Given the description of an element on the screen output the (x, y) to click on. 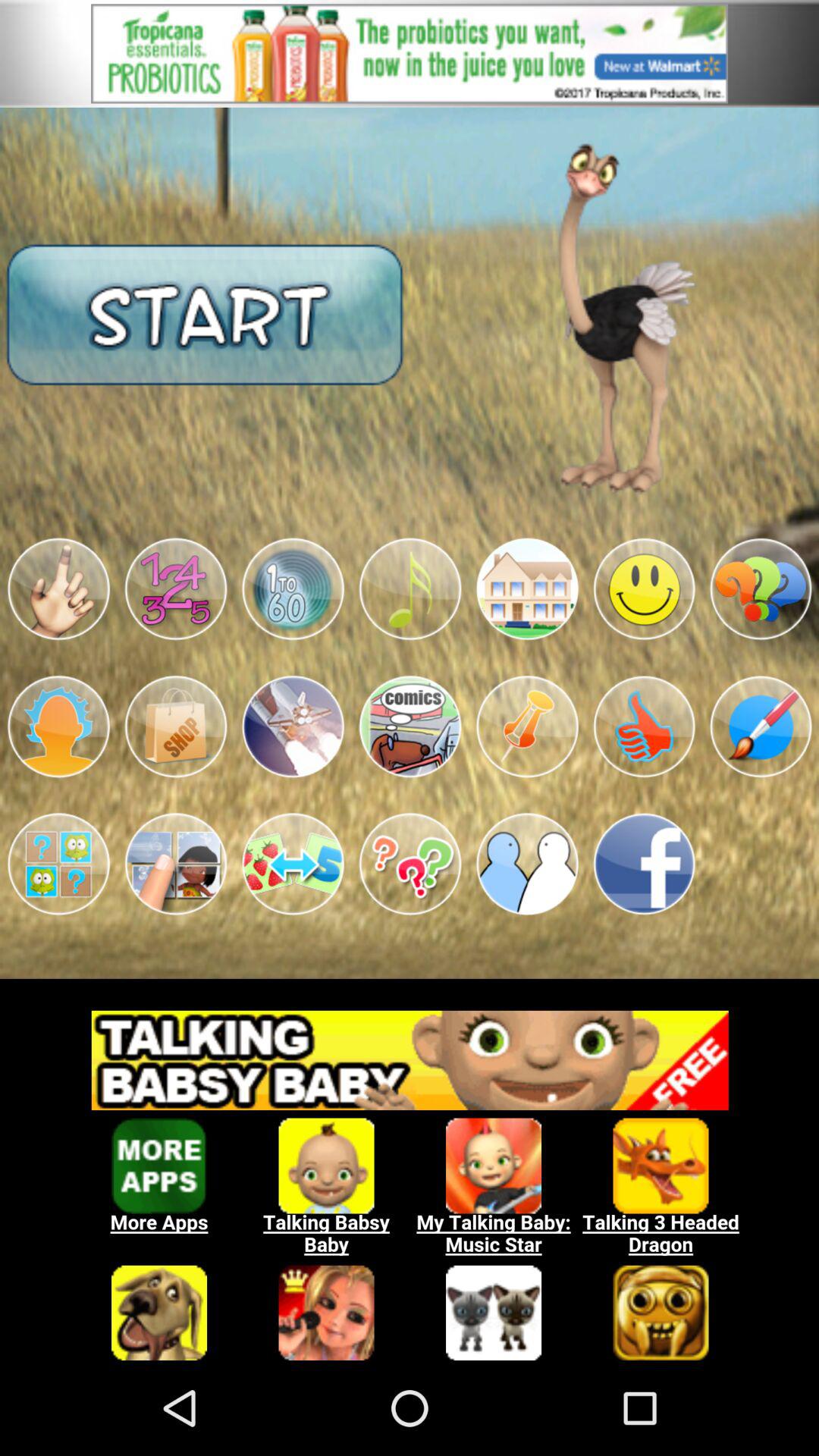
click to the app (292, 863)
